Given the description of an element on the screen output the (x, y) to click on. 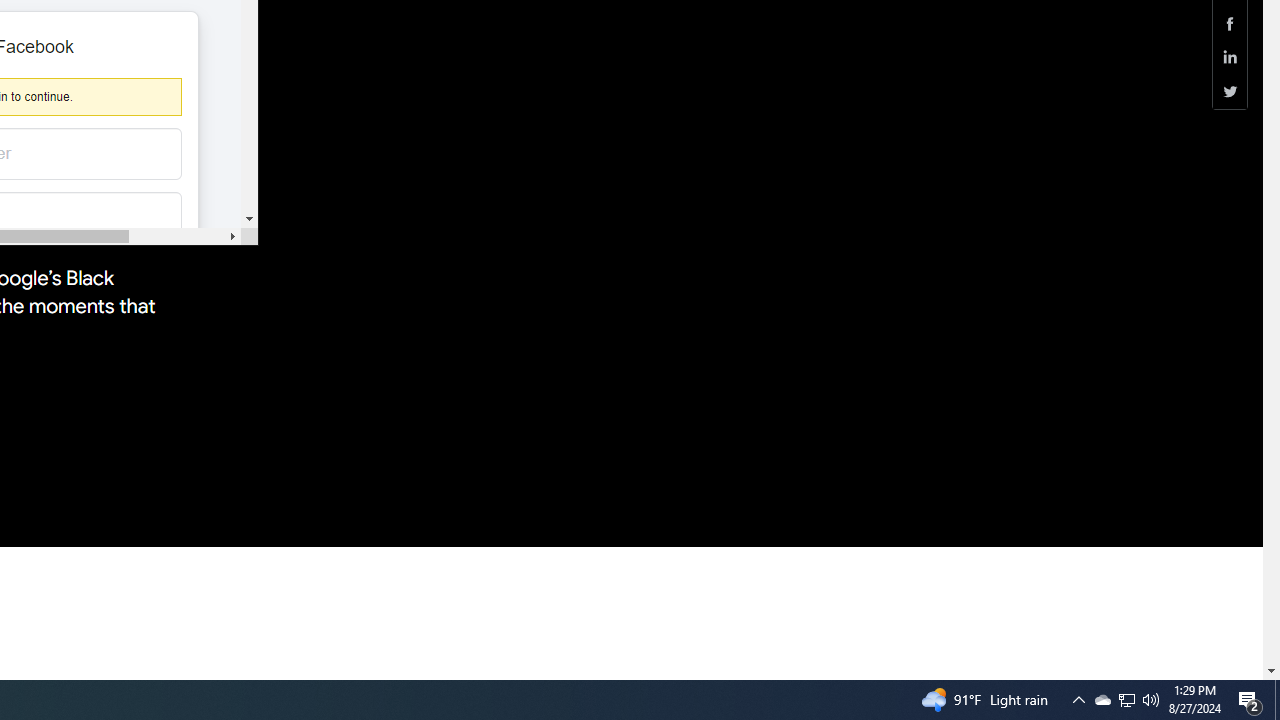
Q2790: 100% (1126, 699)
Show desktop (1151, 699)
Share this page (Twitter) (1102, 699)
User Promoted Notification Area (1277, 699)
Share this page (Facebook) (1230, 91)
Share this page (LinkedIn) (1126, 699)
Action Center, 2 new notifications (1230, 23)
Notification Chevron (1230, 57)
